Given the description of an element on the screen output the (x, y) to click on. 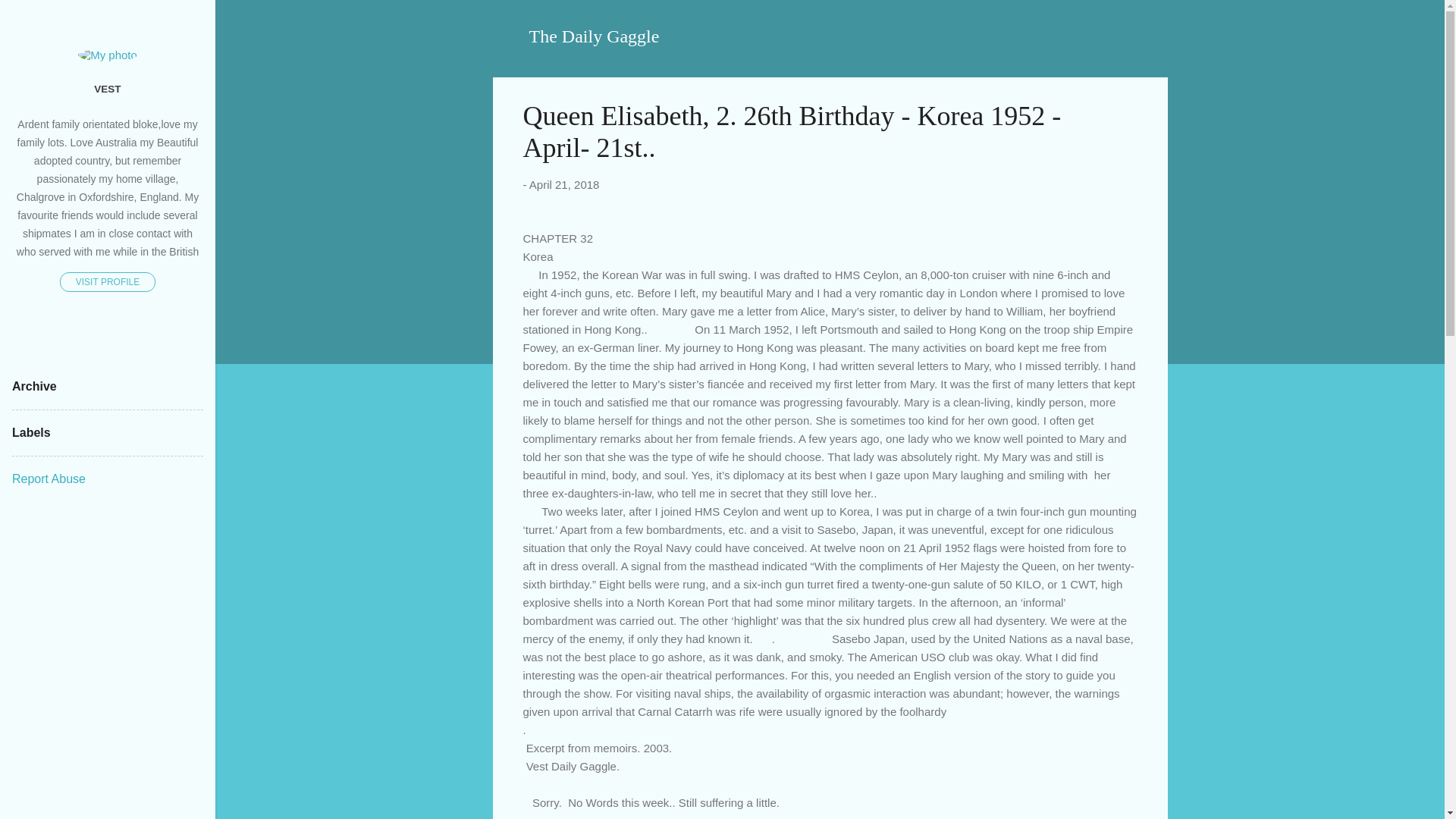
Search (29, 18)
The Daily Gaggle (594, 35)
April 21, 2018 (564, 184)
permanent link (564, 184)
